Given the description of an element on the screen output the (x, y) to click on. 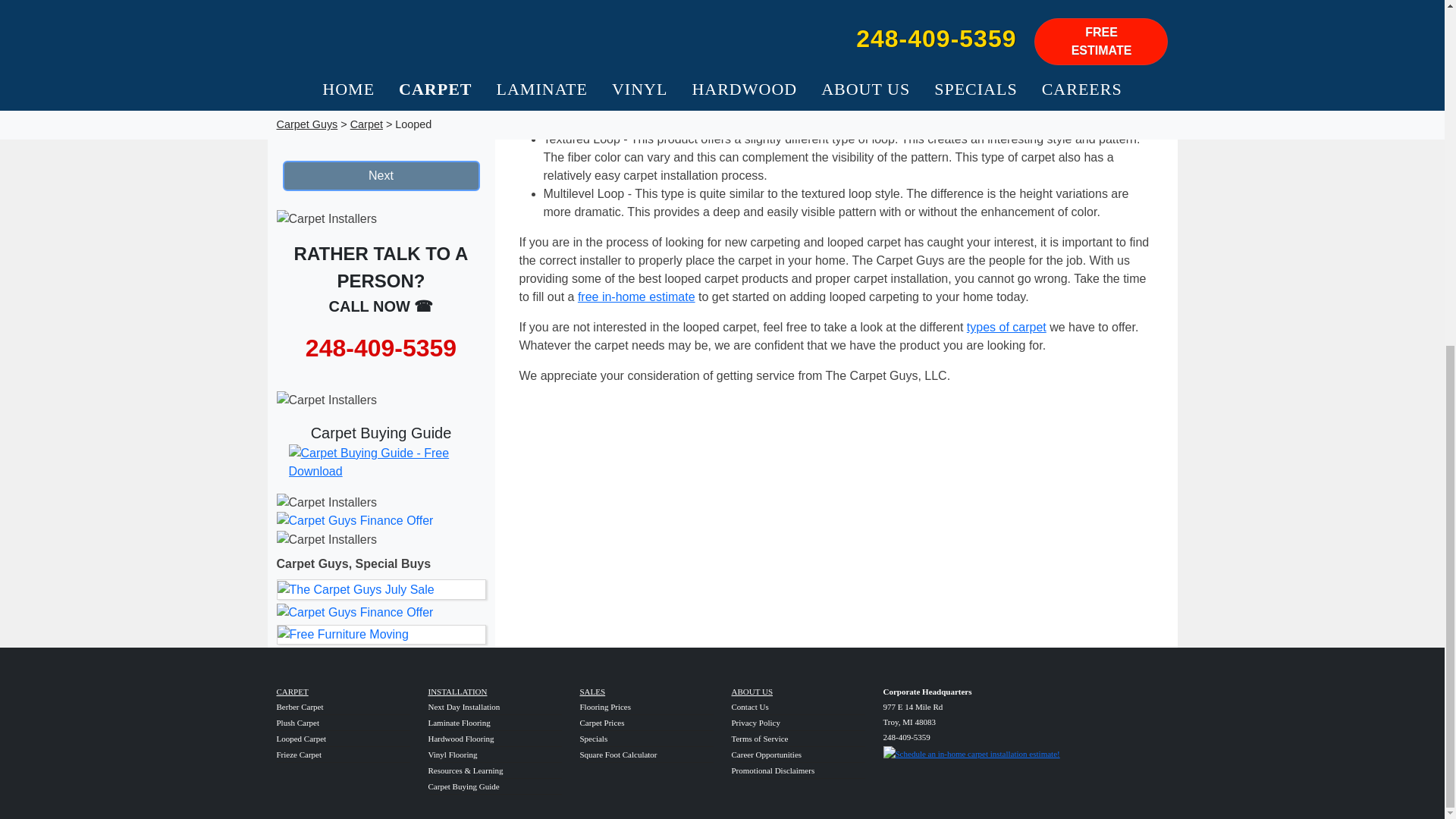
Schedule an In Home Estimate (970, 751)
yes (288, 85)
Berber Carpet (299, 706)
terms of use (409, 114)
types of carpet (1006, 327)
yes (293, 113)
free in-home estimate (636, 296)
CARPET (291, 691)
Next (380, 175)
no (339, 85)
Plush Carpet (297, 722)
privacy policy (421, 133)
248-409-5359 (381, 347)
UNKNOWN (385, 85)
contact consent (325, 133)
